Given the description of an element on the screen output the (x, y) to click on. 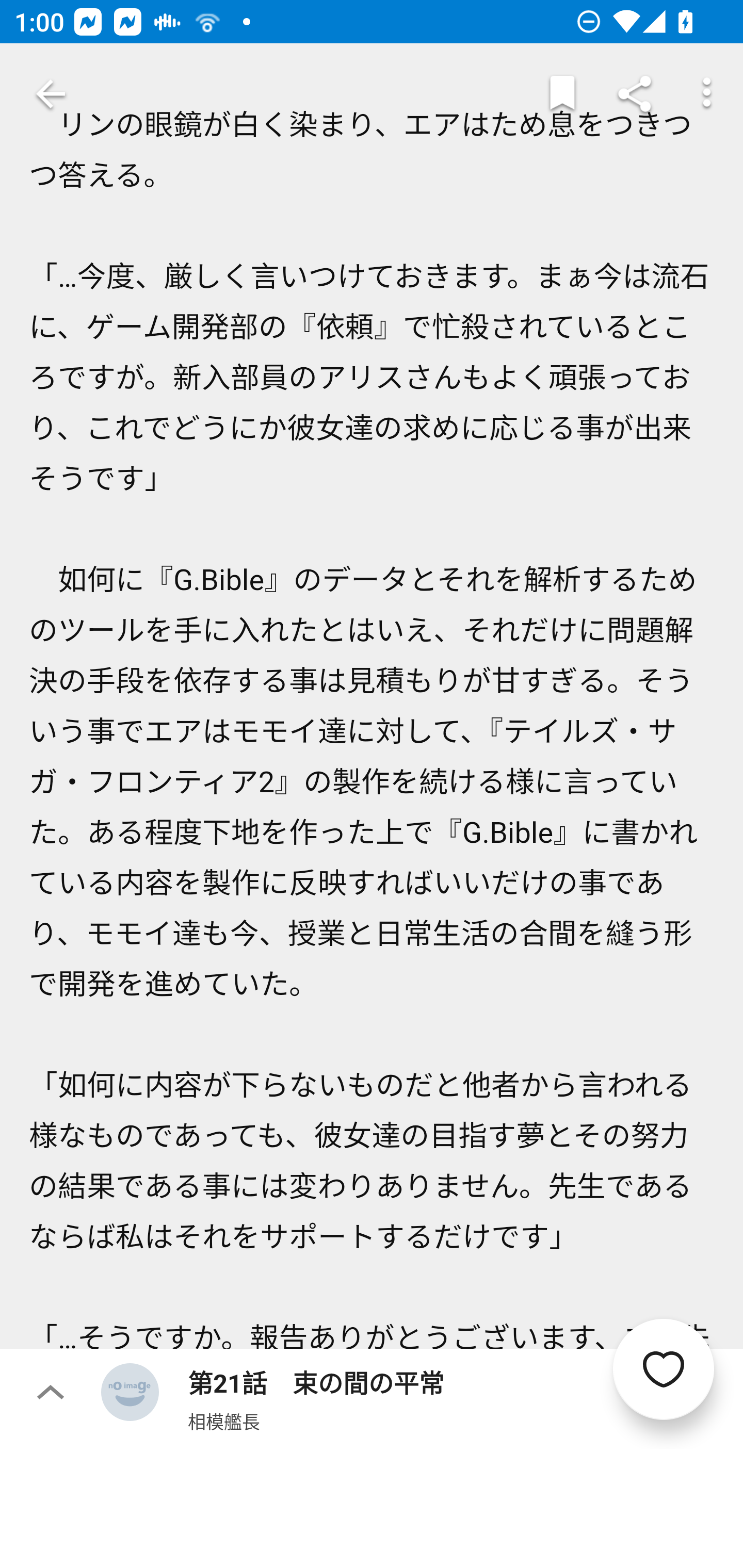
Navigate up (50, 93)
Markers (562, 93)
Share (634, 93)
More options (706, 93)
相模艦長 (223, 1421)
